Given the description of an element on the screen output the (x, y) to click on. 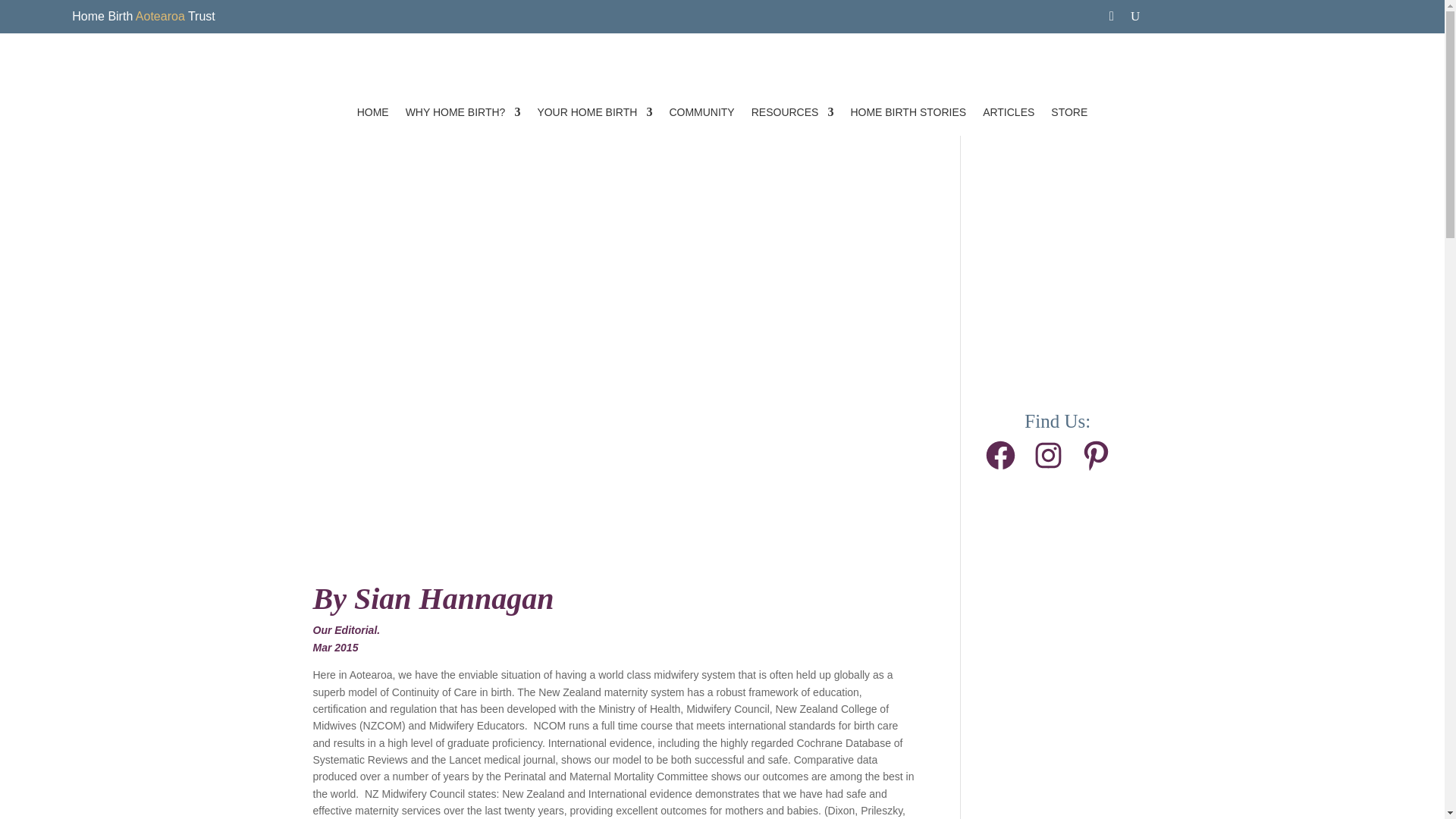
Pinterest (1095, 455)
HOME BIRTH STORIES (908, 111)
Instagram (1047, 455)
YOUR HOME BIRTH (594, 111)
RESOURCES (792, 111)
ARTICLES (1007, 111)
Facebook (1000, 455)
WHY HOME BIRTH? (463, 111)
COMMUNITY (700, 111)
